Given the description of an element on the screen output the (x, y) to click on. 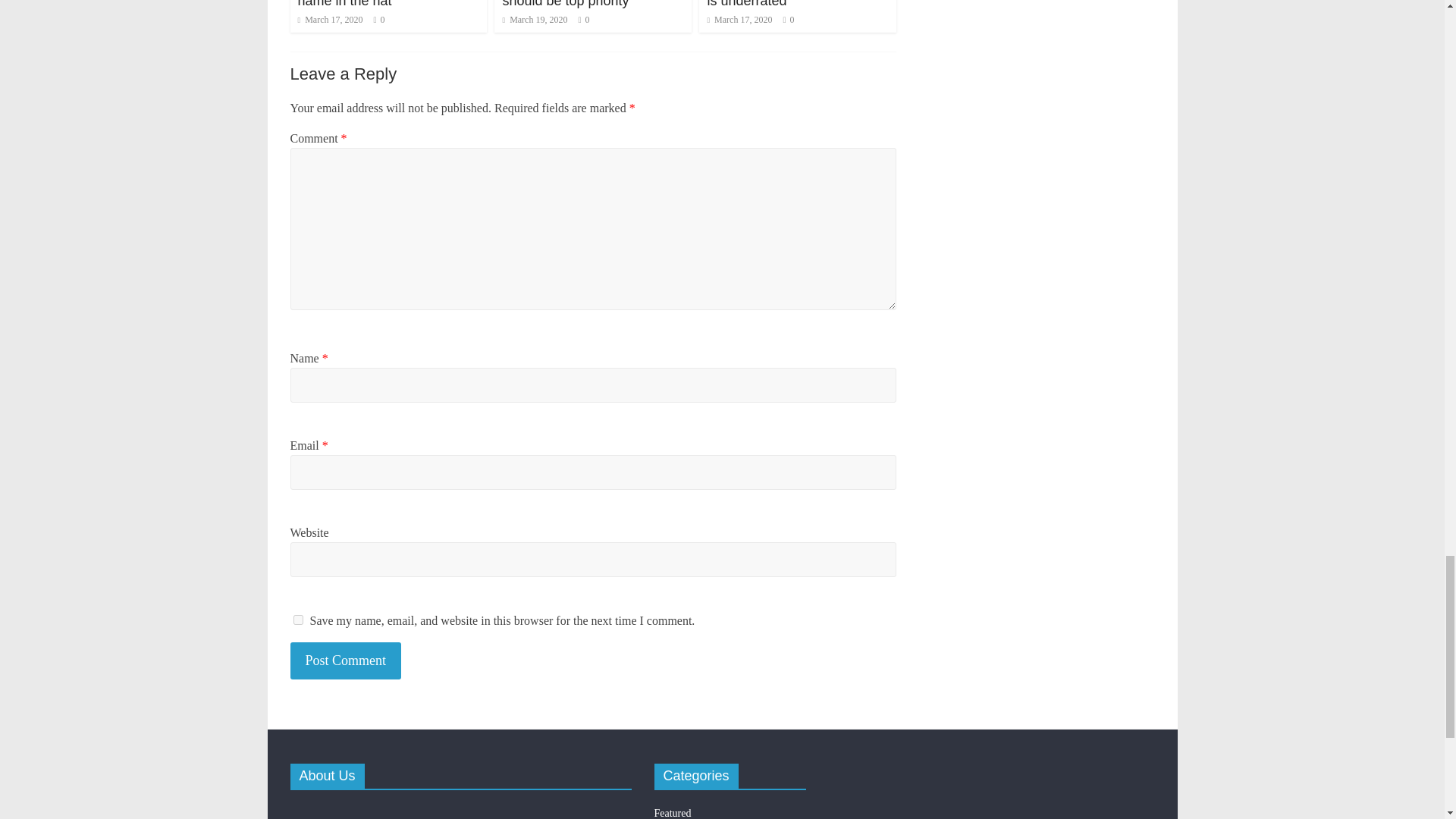
Post Comment (345, 660)
5 reasons Marcel Sabitzer should be top priority (581, 4)
5 reasons Marcel Sabitzer should be top priority (581, 4)
Samuel Umtiti just another name in the hat (377, 4)
yes (297, 619)
Arsenal: Alexandre Lacazette is underrated (794, 4)
March 19, 2020 (534, 19)
March 17, 2020 (329, 19)
11:15 am (329, 19)
Samuel Umtiti just another name in the hat (377, 4)
